Given the description of an element on the screen output the (x, y) to click on. 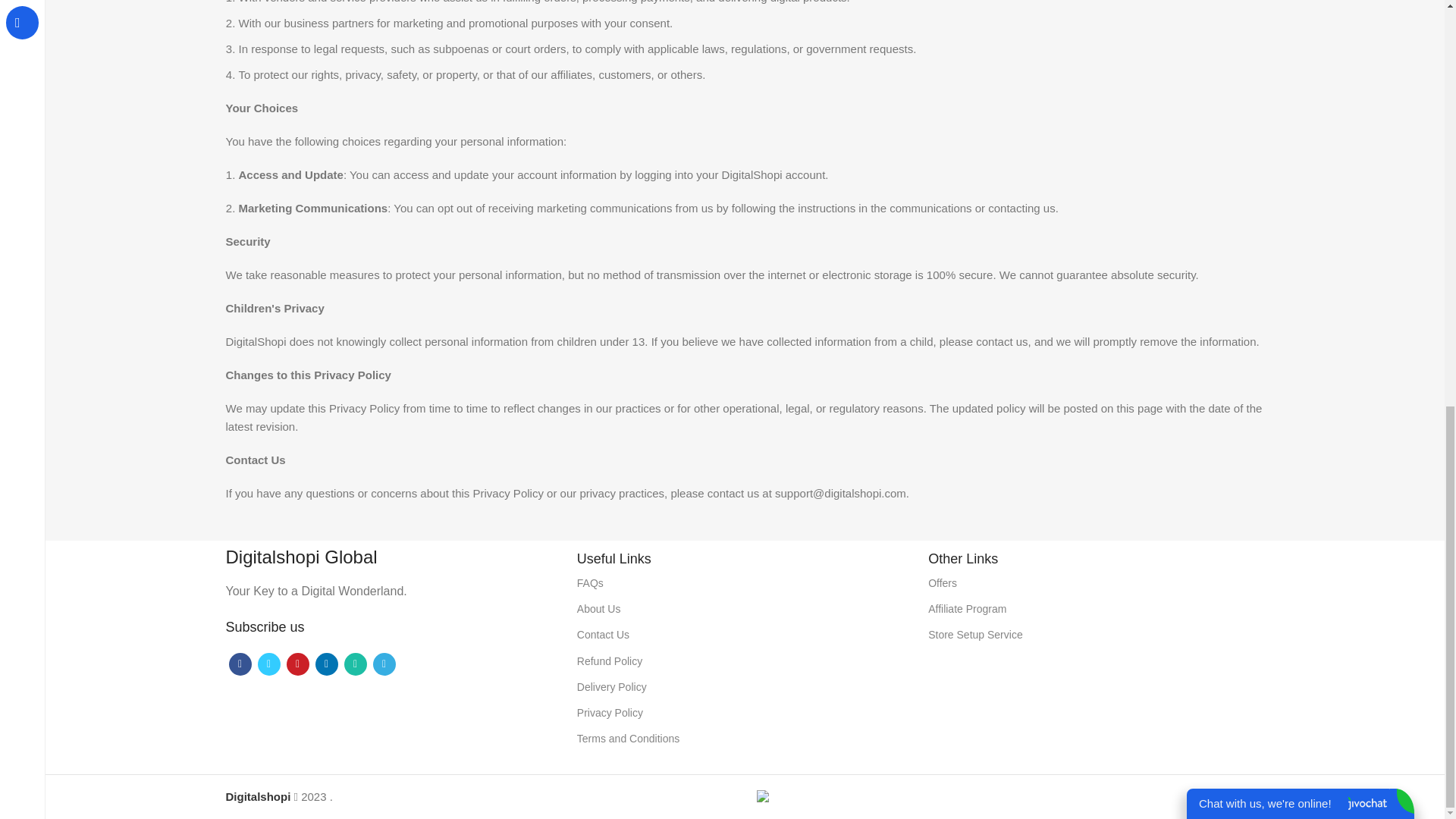
FAQs (744, 583)
